Given the description of an element on the screen output the (x, y) to click on. 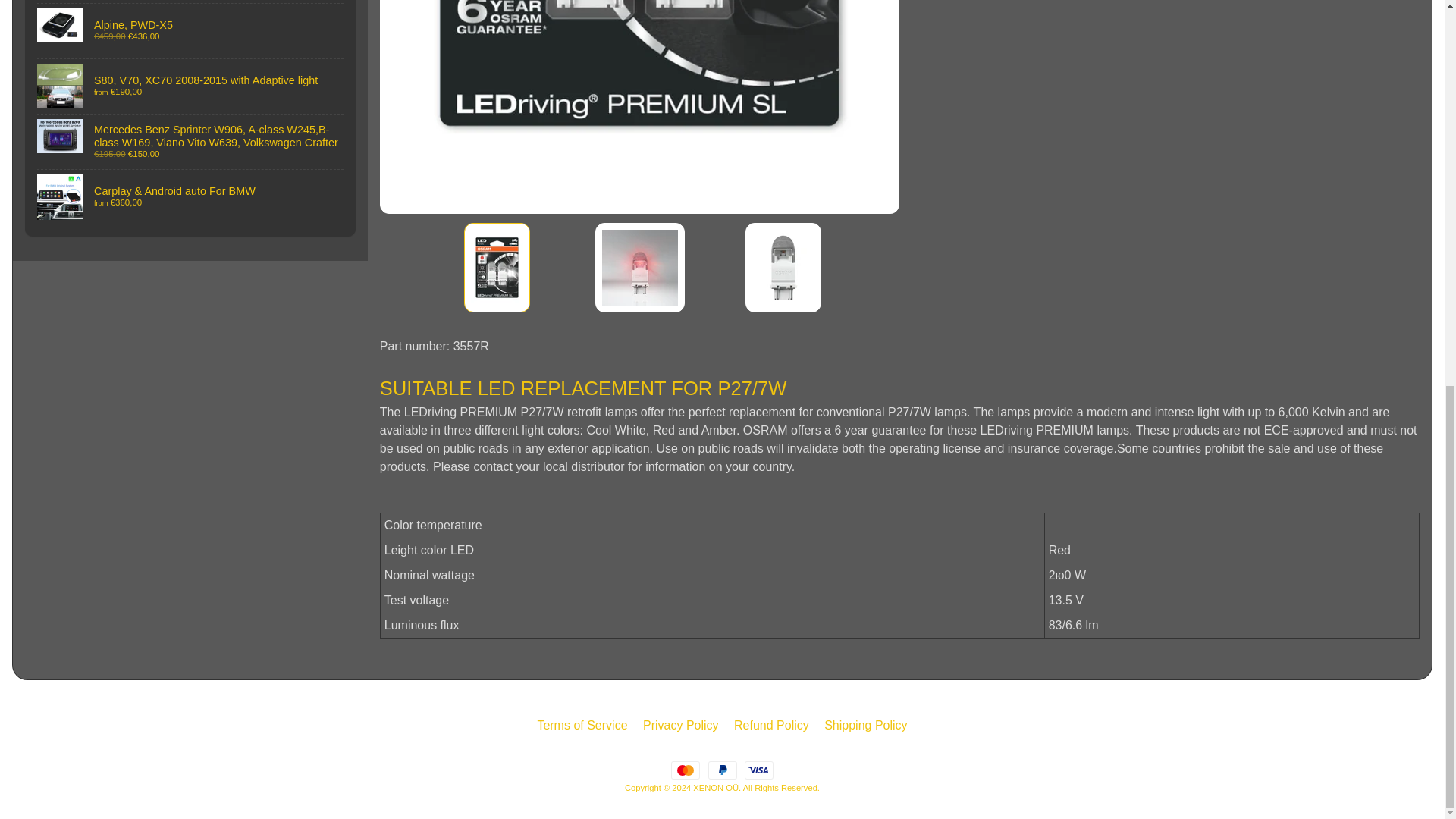
Alpine, PWD-X5 (190, 31)
S80, V70, XC70 2008-2015 with Adaptive light (190, 85)
